Given the description of an element on the screen output the (x, y) to click on. 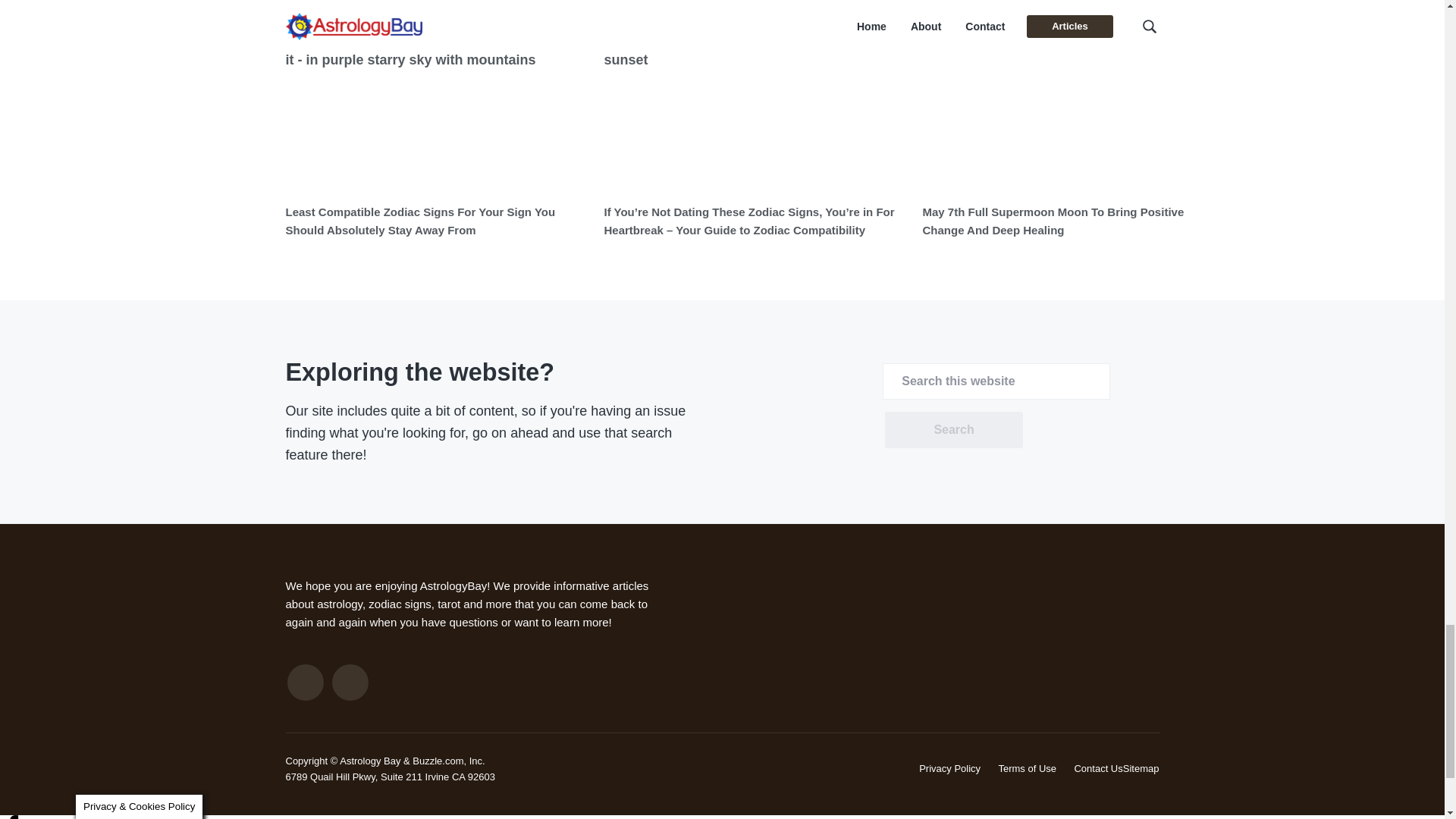
Search (953, 429)
Search (953, 429)
